Given the description of an element on the screen output the (x, y) to click on. 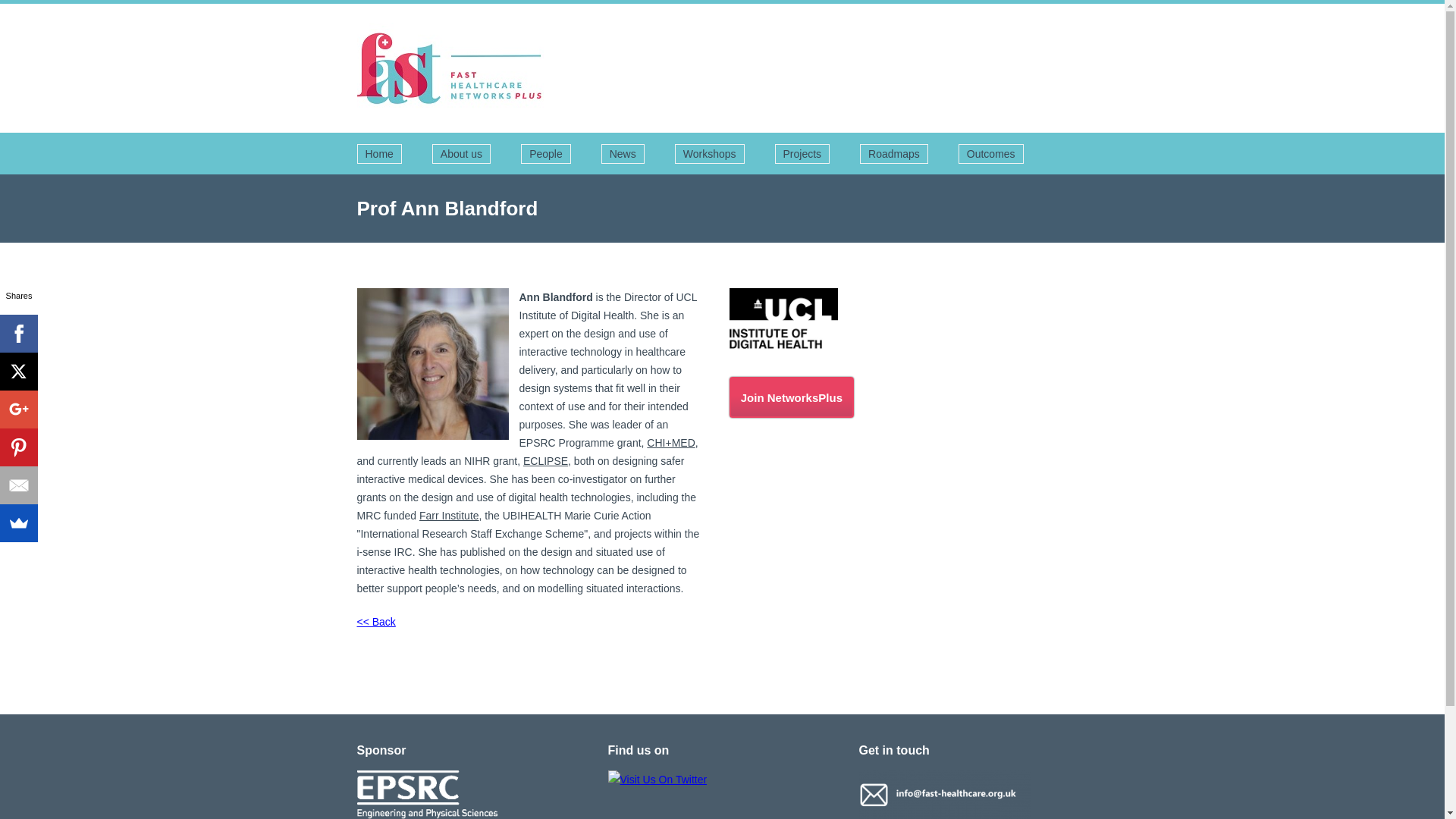
Facebook (18, 333)
SumoMe (18, 523)
FAST Healthcare NetworksPlus (449, 67)
Outcomes (990, 153)
Farr Institute (449, 515)
Workshops (709, 153)
Email (18, 485)
People (545, 153)
About us (461, 153)
annblandford (783, 318)
